Given the description of an element on the screen output the (x, y) to click on. 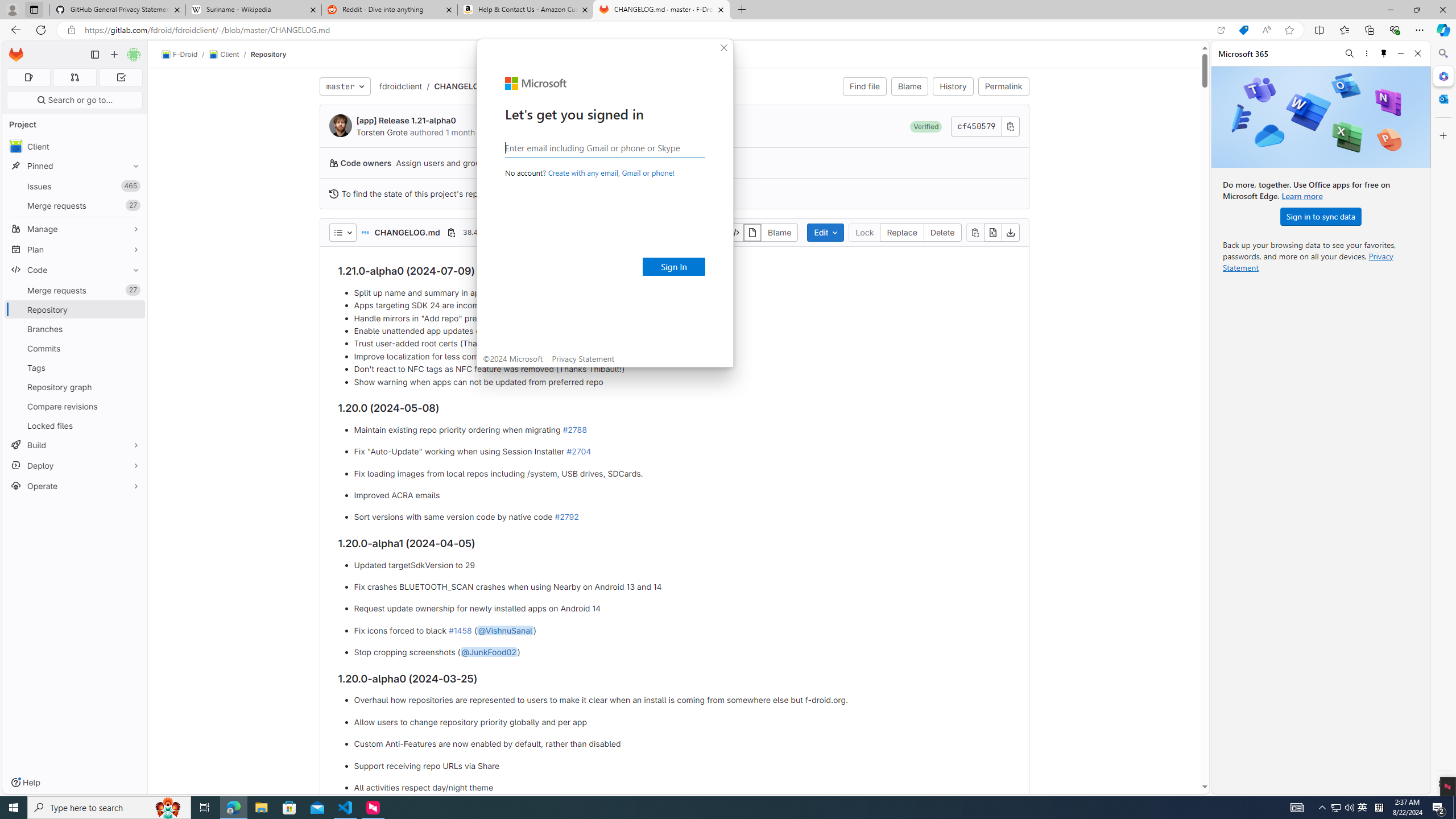
Pin Compare revisions (132, 406)
Unpin Issues (132, 186)
Locked files (74, 425)
Pin Branches (132, 328)
Issues 465 (74, 185)
Microsoft Icon (535, 83)
Tags (74, 367)
Blame (909, 85)
Manage (74, 228)
Tags (74, 367)
Operate (74, 485)
